Given the description of an element on the screen output the (x, y) to click on. 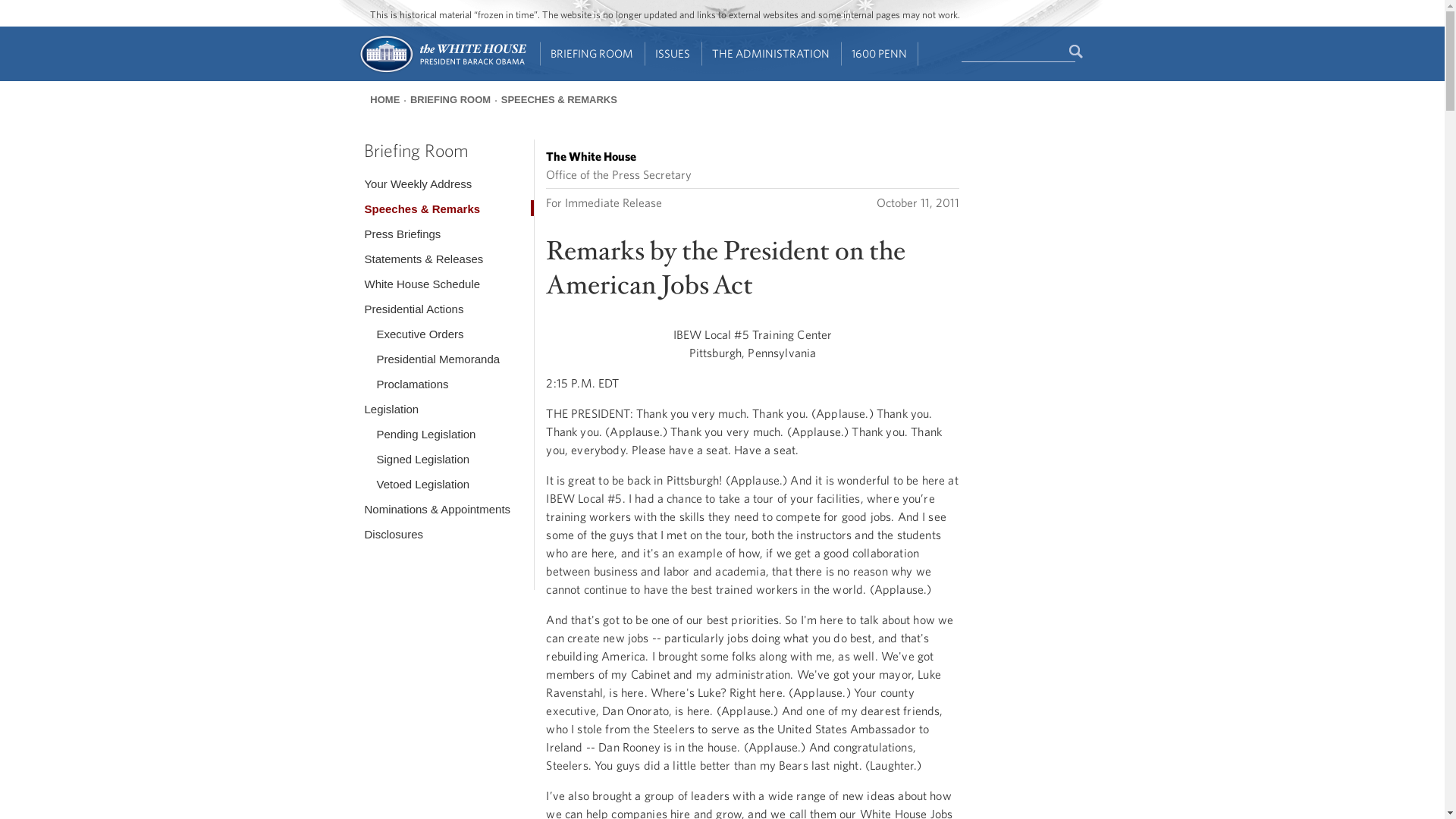
ISSUES (673, 53)
Search (1076, 51)
BRIEFING ROOM (592, 53)
Home (441, 70)
Enter the terms you wish to search for. (1017, 52)
